Given the description of an element on the screen output the (x, y) to click on. 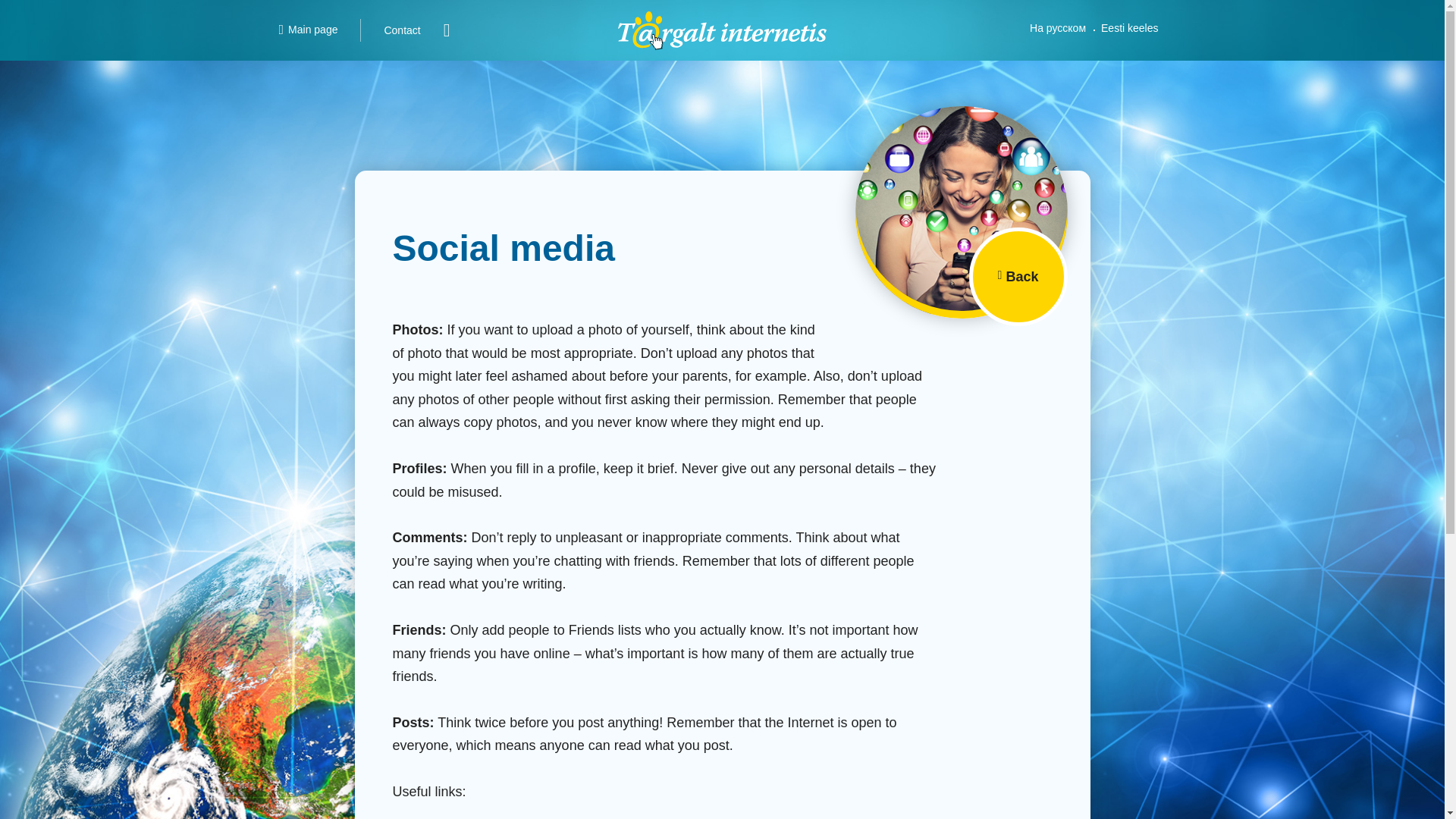
Contact (402, 29)
Back (1018, 276)
Targalt internetis (722, 30)
Eesti keeles (1129, 27)
Main page (308, 29)
